Given the description of an element on the screen output the (x, y) to click on. 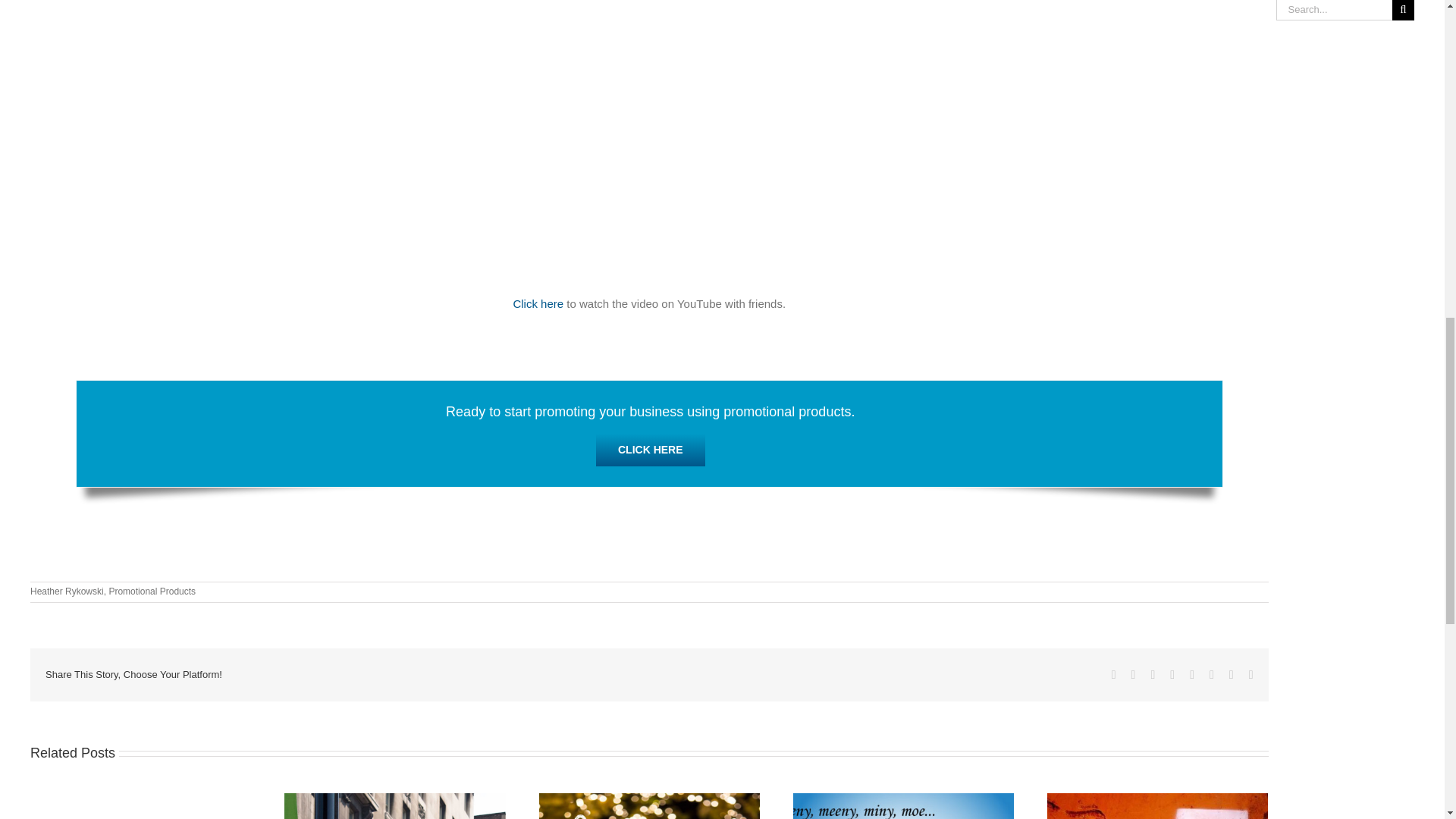
CLICK HERE (649, 450)
Heather Rykowski (66, 591)
Promotional Products (151, 591)
Click here (537, 303)
